Given the description of an element on the screen output the (x, y) to click on. 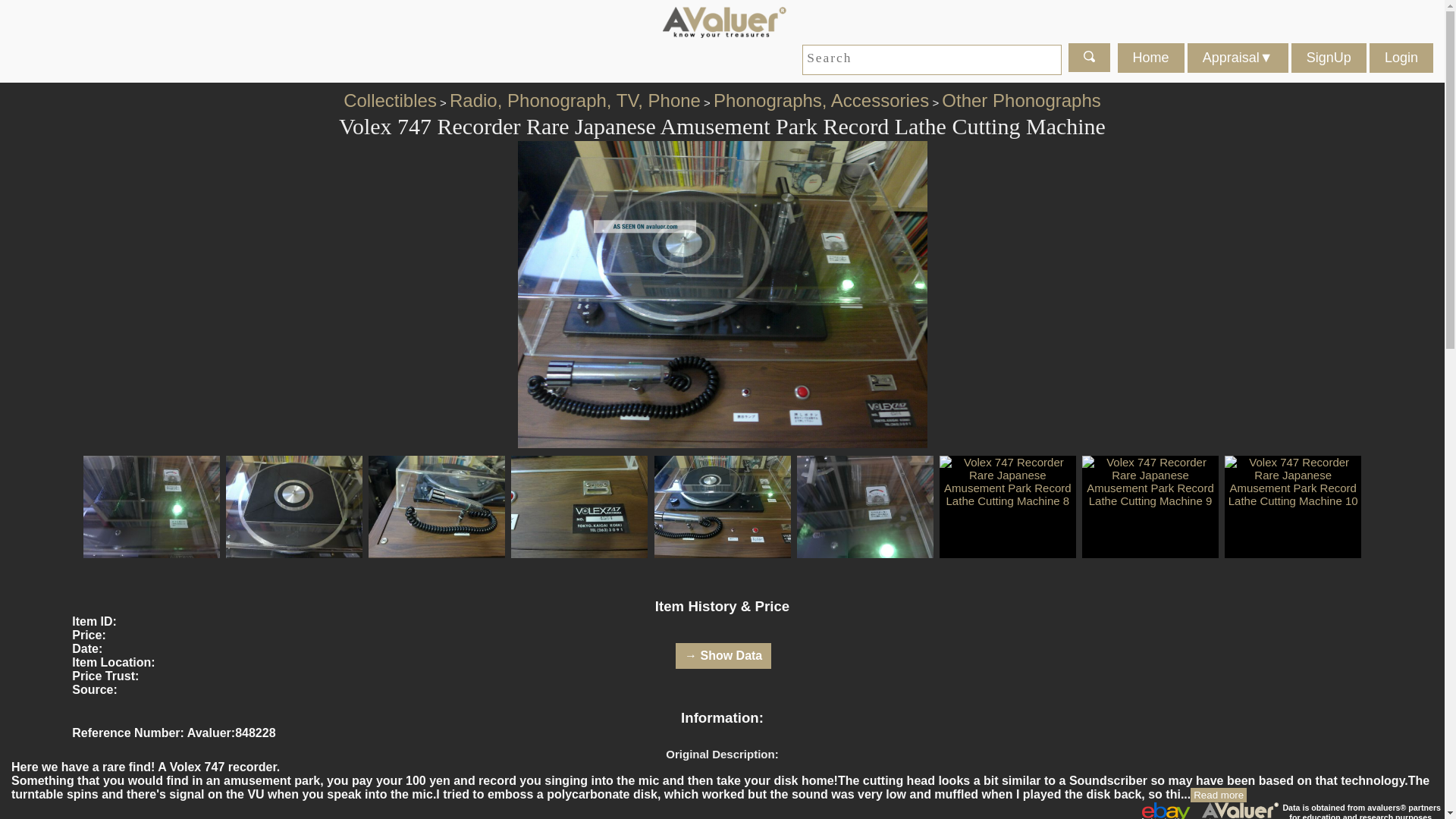
Phonographs, Accessories (820, 100)
Avaluers - Antique, Collectable and Art items evaluation (721, 20)
Home (1151, 57)
Item ID: (93, 621)
Radio, Phonograph, TV, Phone (574, 100)
Collectibles (389, 100)
Login (1401, 57)
SignUp (1329, 57)
Other Phonographs (1021, 100)
